Given the description of an element on the screen output the (x, y) to click on. 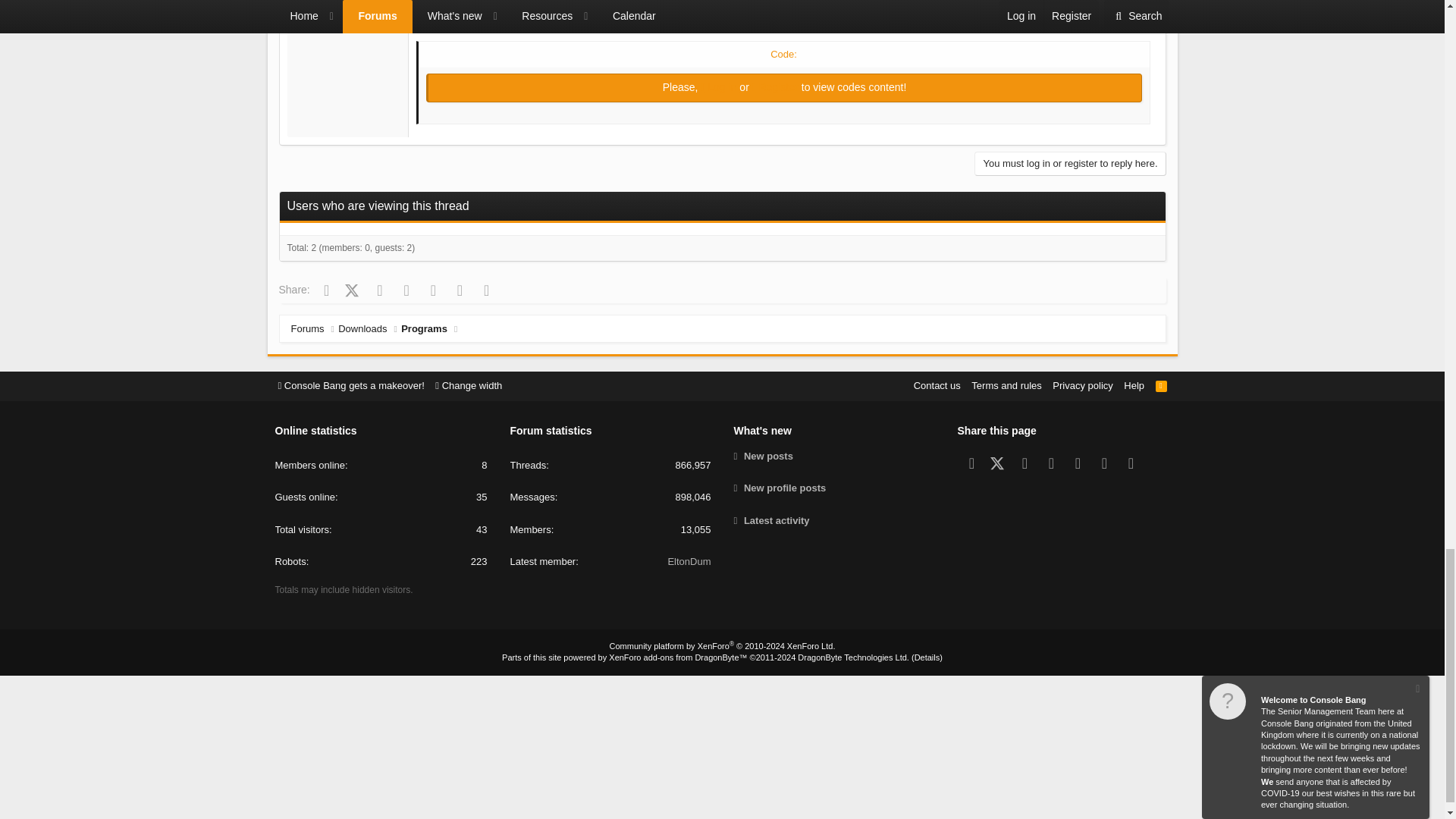
Style chooser (350, 385)
RSS (1161, 385)
